Given the description of an element on the screen output the (x, y) to click on. 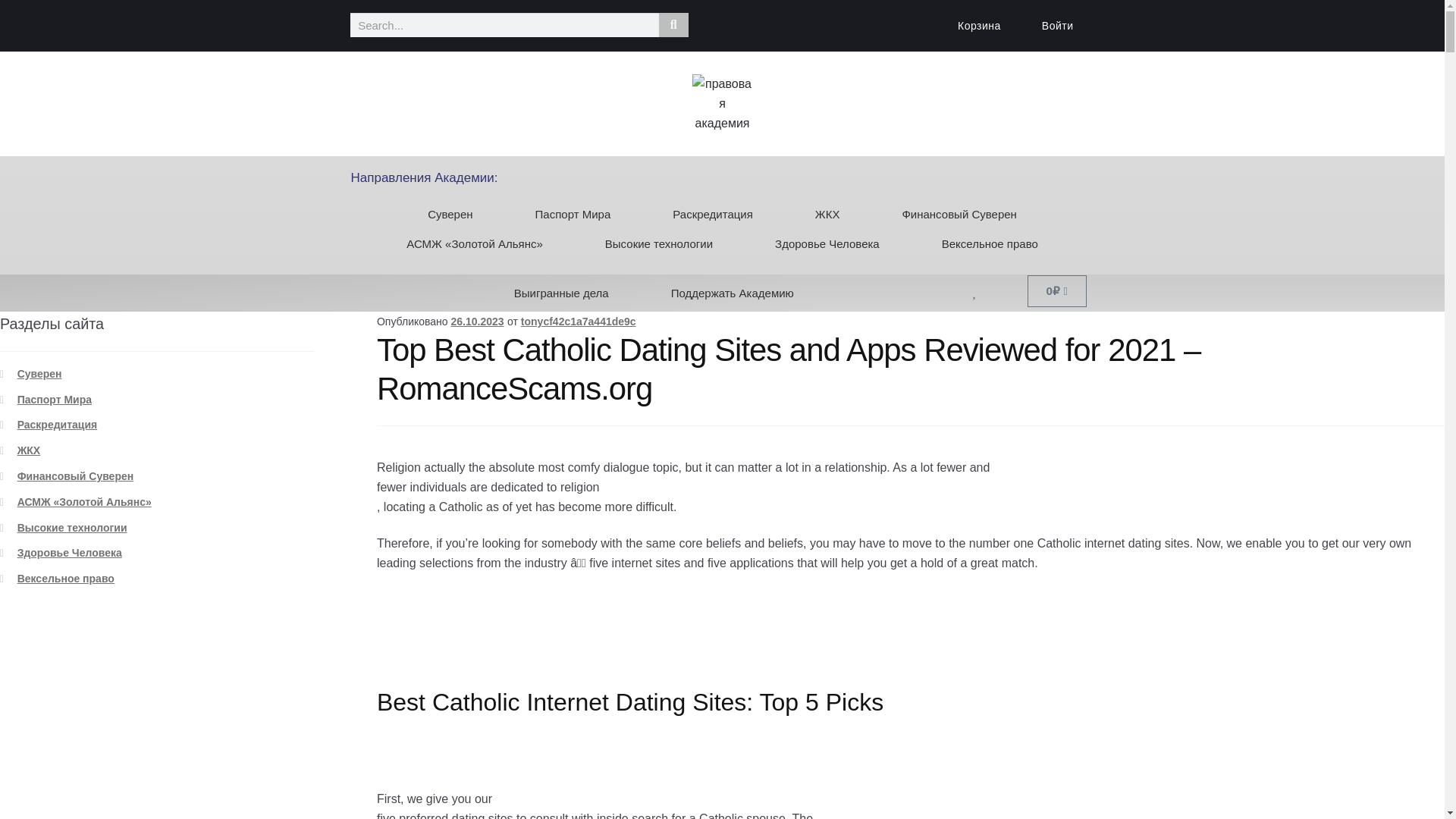
tonycf42c1a7a441de9c (578, 321)
26.10.2023 (477, 321)
